Given the description of an element on the screen output the (x, y) to click on. 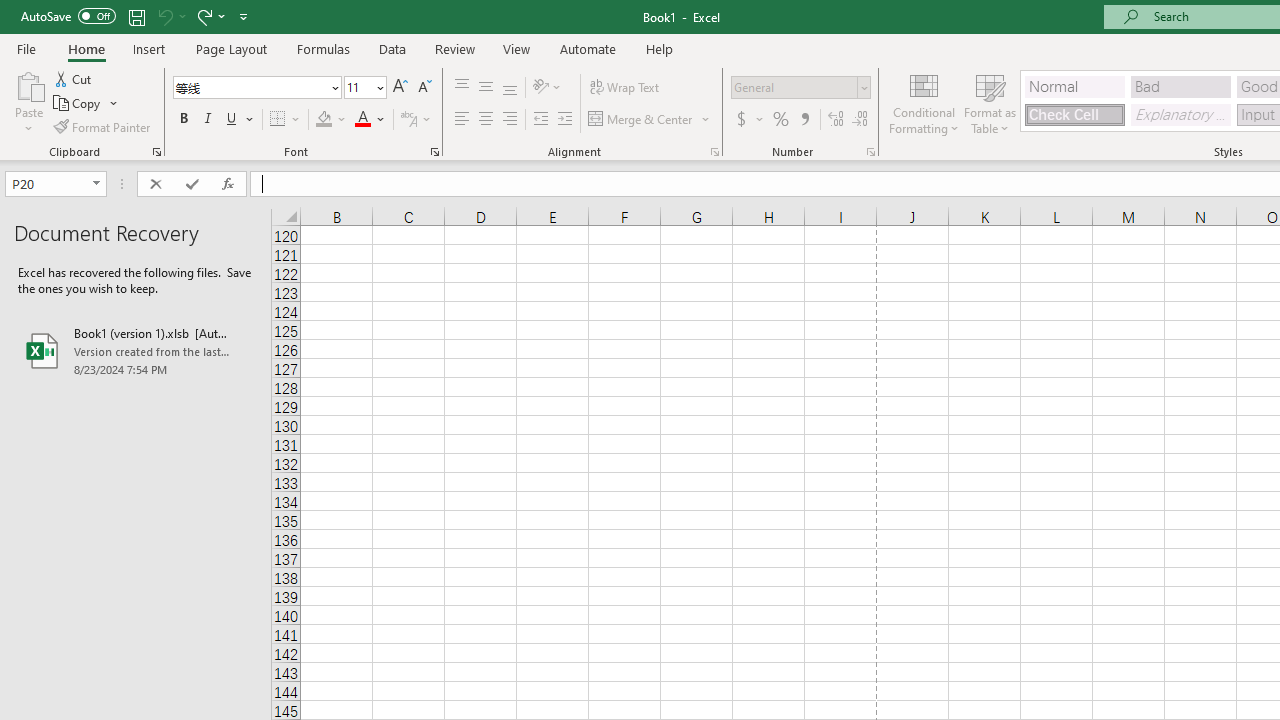
Format Cell Font (434, 151)
Show Phonetic Field (416, 119)
